Given the description of an element on the screen output the (x, y) to click on. 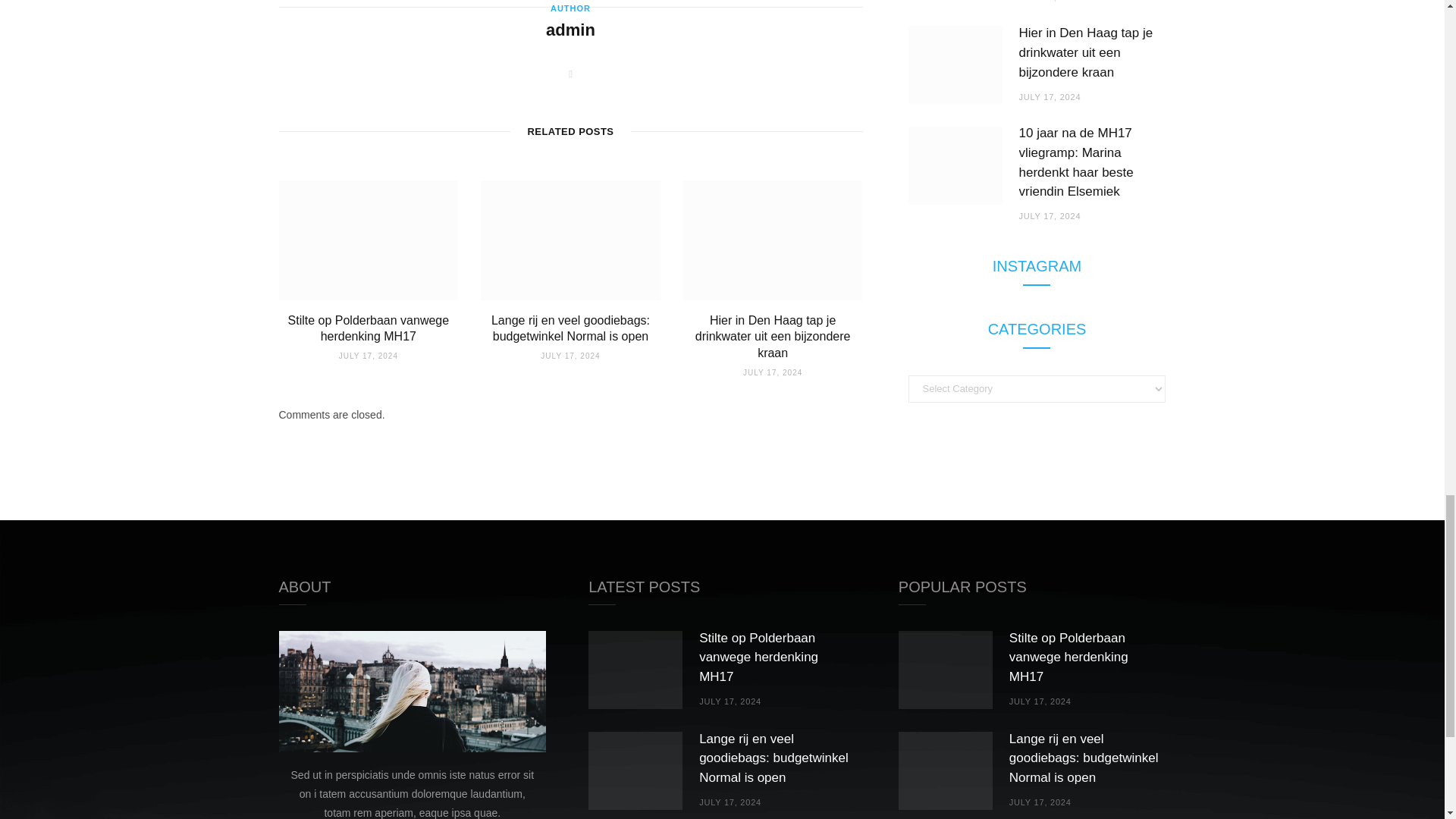
Posts by admin (570, 30)
